Given the description of an element on the screen output the (x, y) to click on. 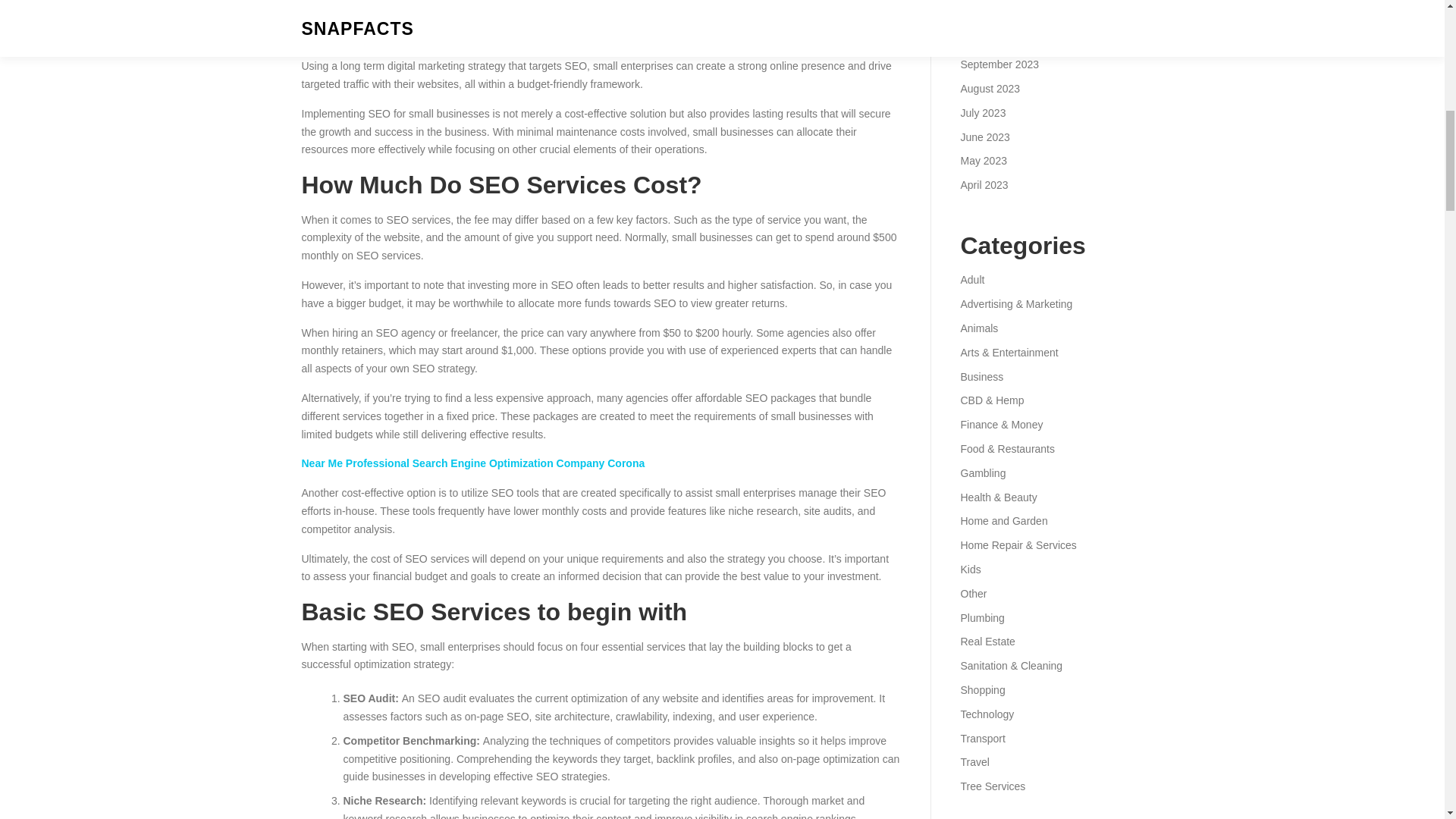
June 2023 (984, 137)
August 2023 (989, 88)
November 2023 (997, 16)
Animals (978, 328)
September 2023 (999, 64)
May 2023 (982, 160)
July 2023 (982, 112)
Adult (971, 279)
April 2023 (983, 184)
October 2023 (992, 39)
Business (981, 377)
